Given the description of an element on the screen output the (x, y) to click on. 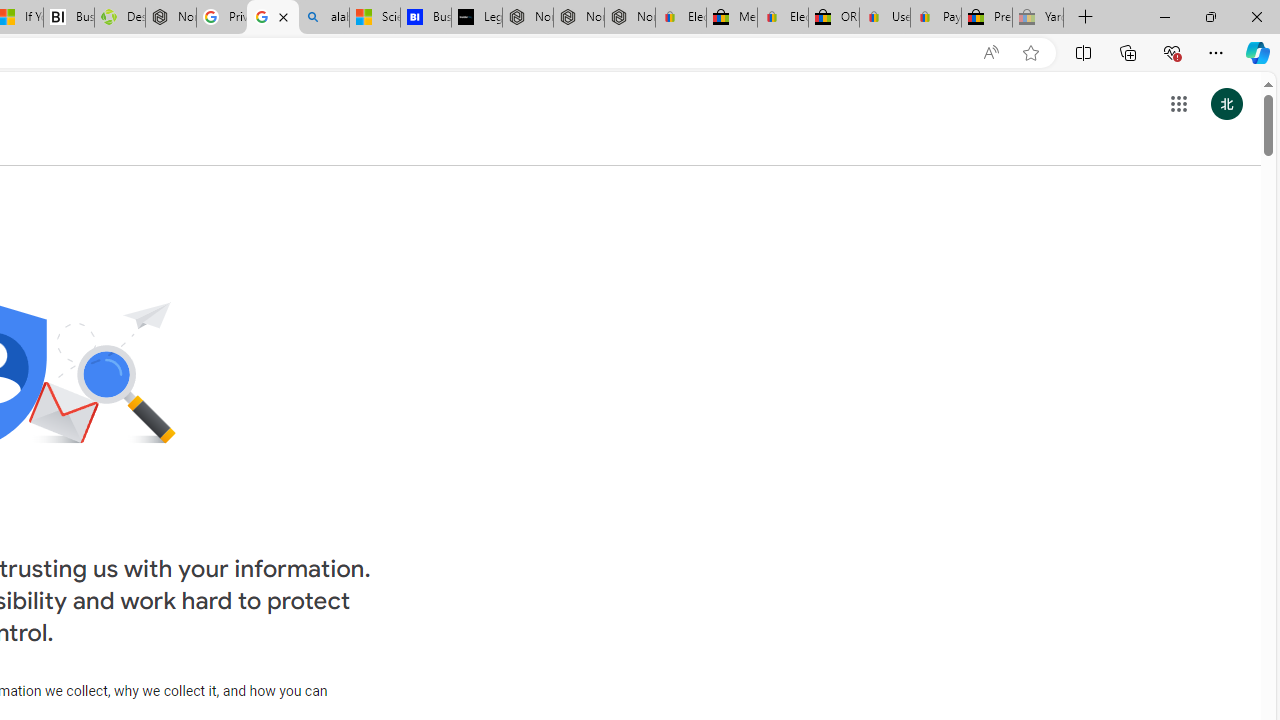
Yard, Garden & Outdoor Living - Sleeping (1037, 17)
User Privacy Notice | eBay (885, 17)
Descarga Driver Updater (119, 17)
Press Room - eBay Inc. (987, 17)
